Given the description of an element on the screen output the (x, y) to click on. 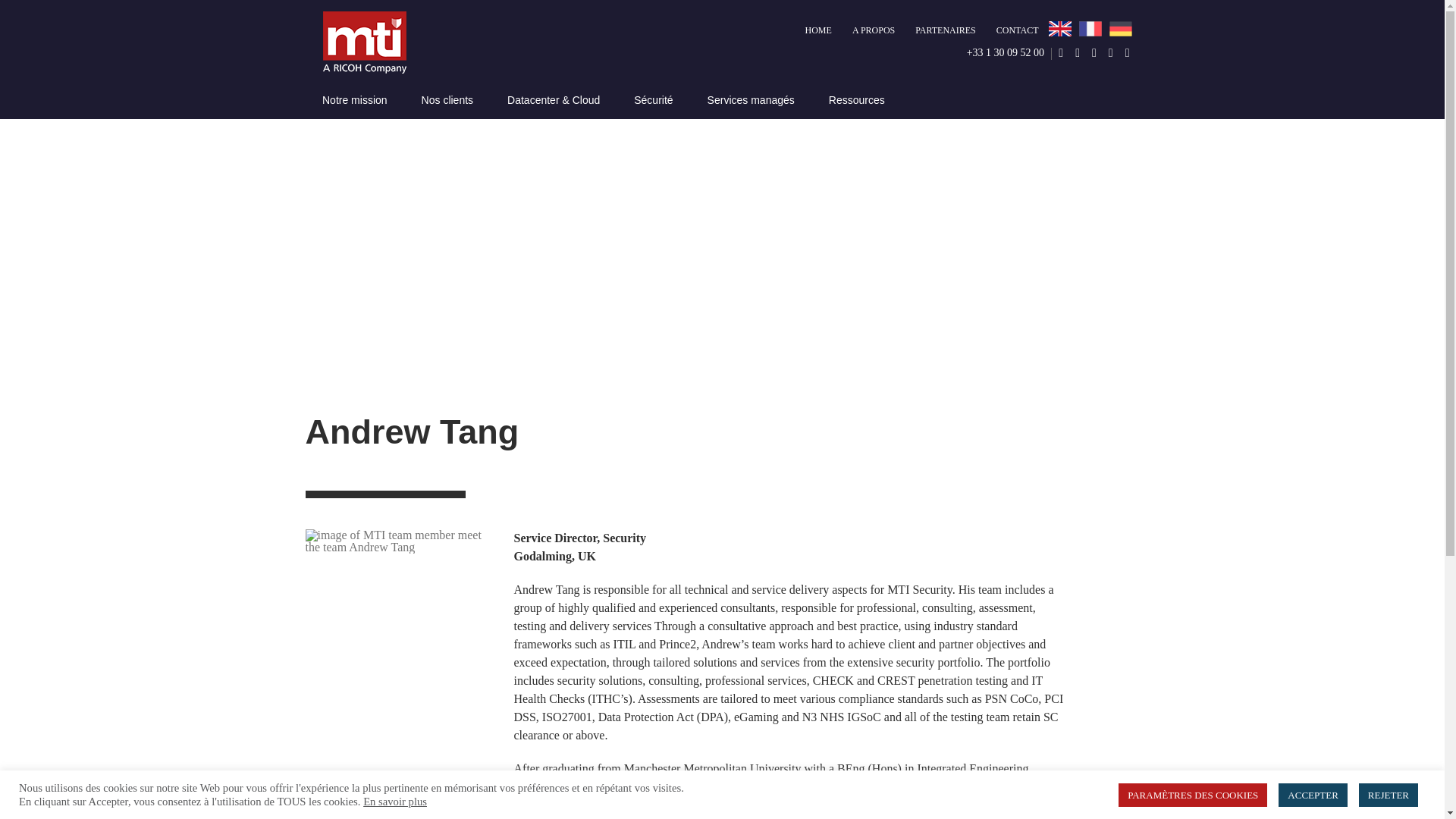
CONTACT (1017, 29)
PARTENAIRES (945, 29)
HOME (823, 29)
A PROPOS (873, 29)
